Given the description of an element on the screen output the (x, y) to click on. 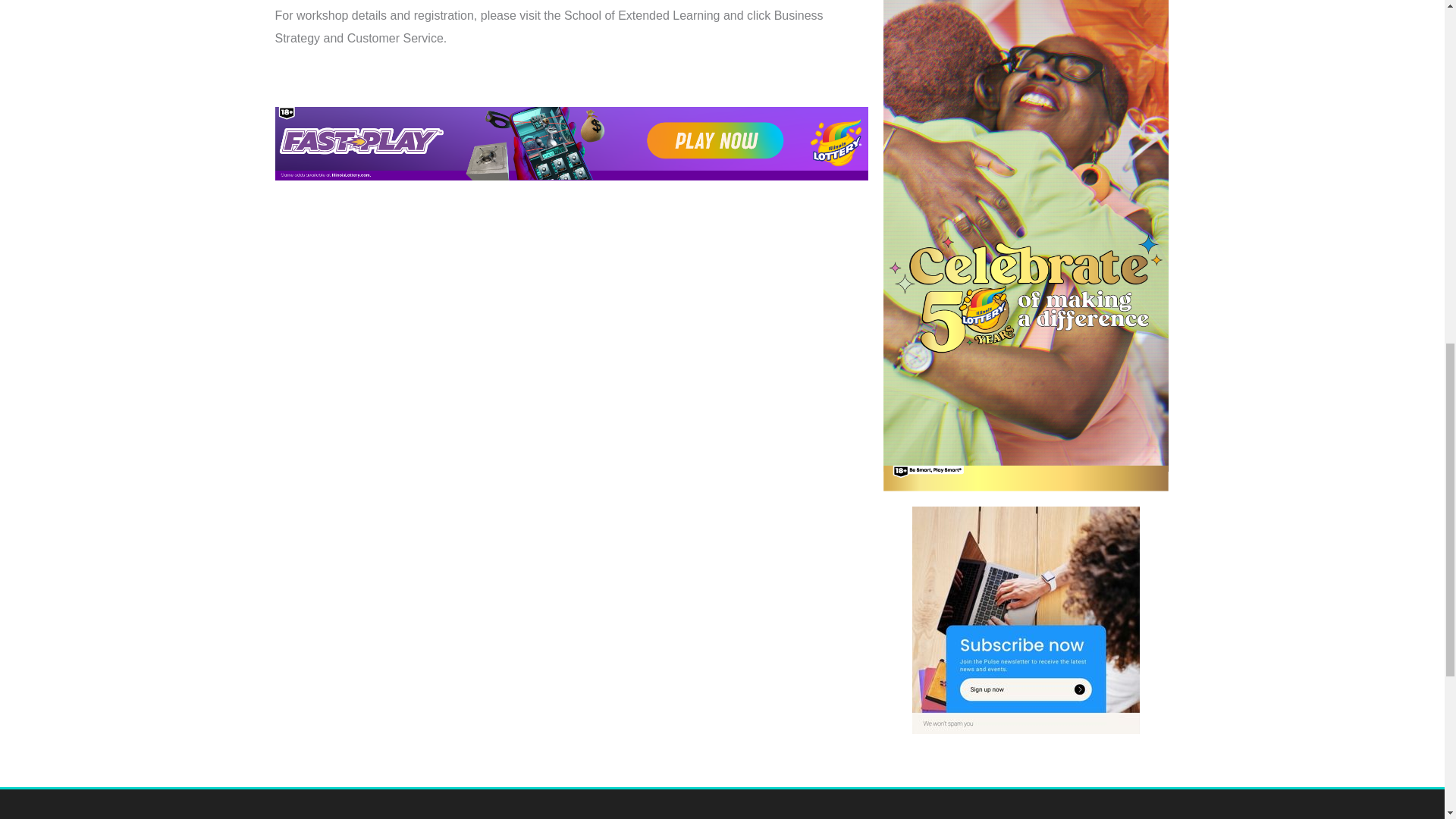
Fast Play-Lottery-Footer-July 2024 (571, 143)
